Given the description of an element on the screen output the (x, y) to click on. 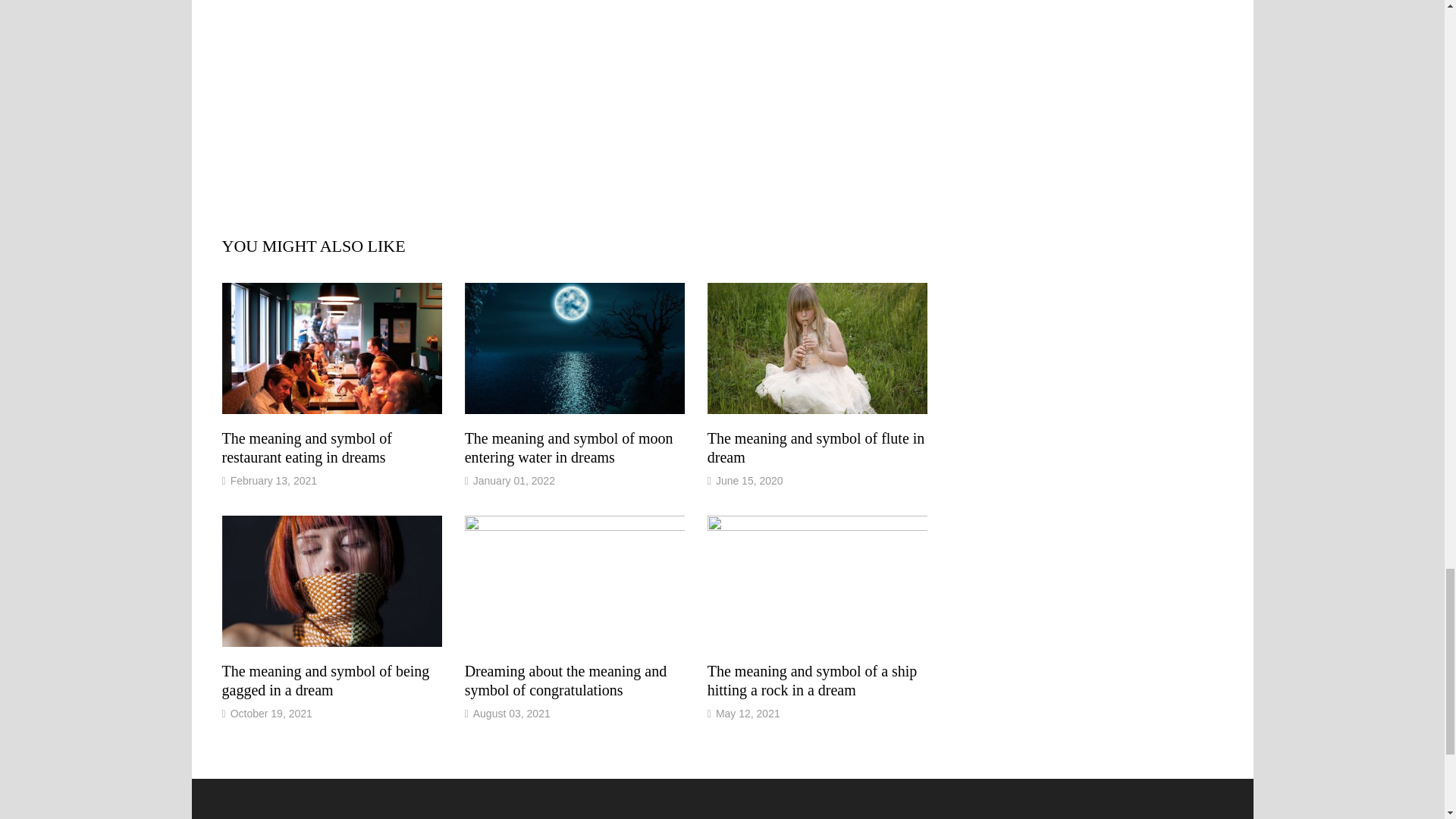
The meaning and symbol of being gagged in a dream (325, 680)
Dreaming about the meaning and symbol of congratulations (565, 680)
The meaning and symbol of a ship hitting a rock in a dream (812, 680)
The meaning and symbol of a ship hitting a rock in a dream (812, 680)
August 03, 2021 (511, 713)
October 19, 2021 (271, 713)
The meaning and symbol of being gagged in a dream (325, 680)
June 15, 2020 (749, 480)
The meaning and symbol of flute in dream (815, 447)
The meaning and symbol of restaurant eating in dreams (306, 447)
February 13, 2021 (273, 480)
The meaning and symbol of moon entering water in dreams (568, 447)
The meaning and symbol of restaurant eating in dreams (306, 447)
January 01, 2022 (513, 480)
The meaning and symbol of moon entering water in dreams (568, 447)
